Given the description of an element on the screen output the (x, y) to click on. 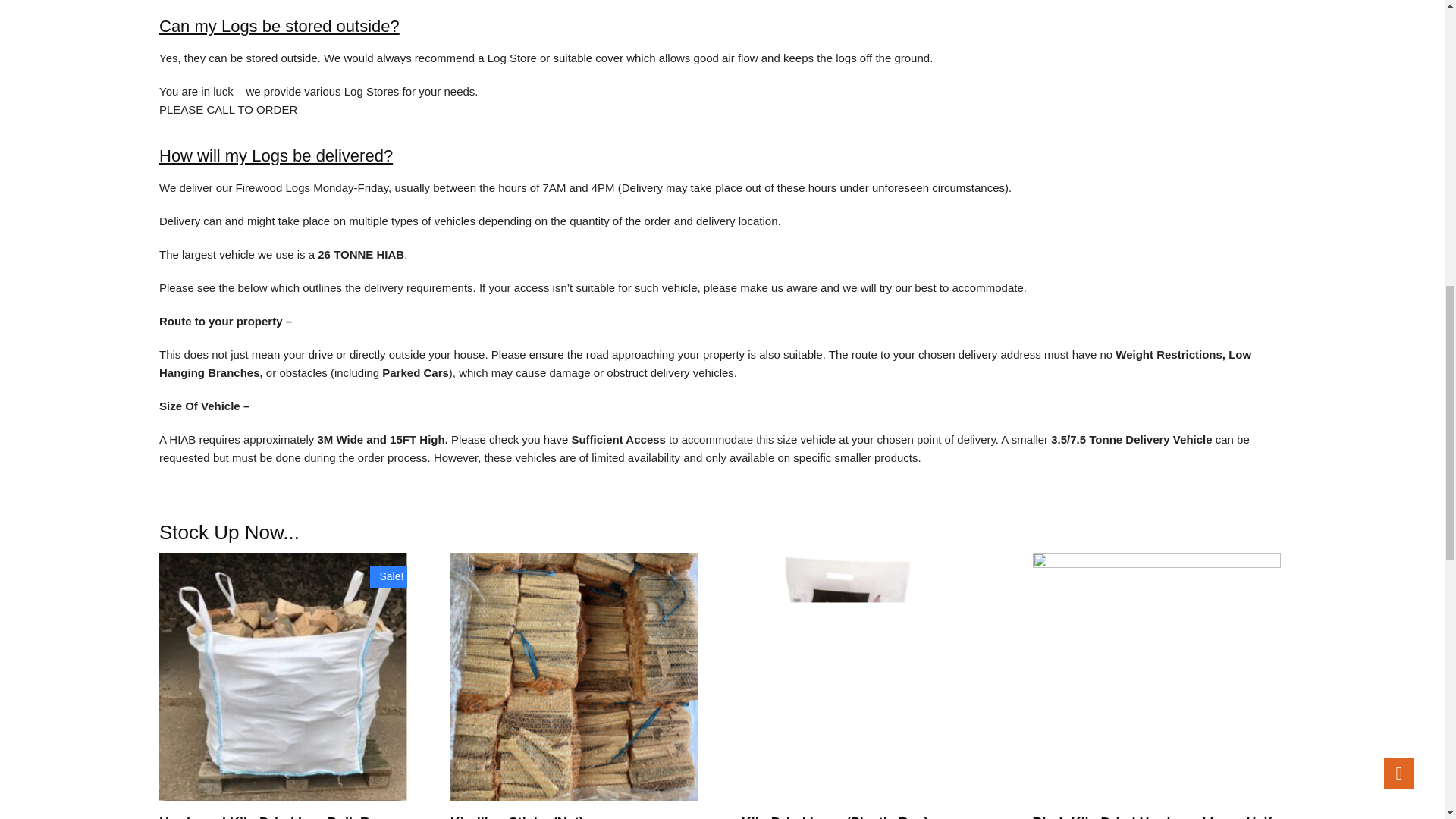
How will my Logs be delivered? (275, 155)
Can my Logs be stored outside? (278, 26)
